Given the description of an element on the screen output the (x, y) to click on. 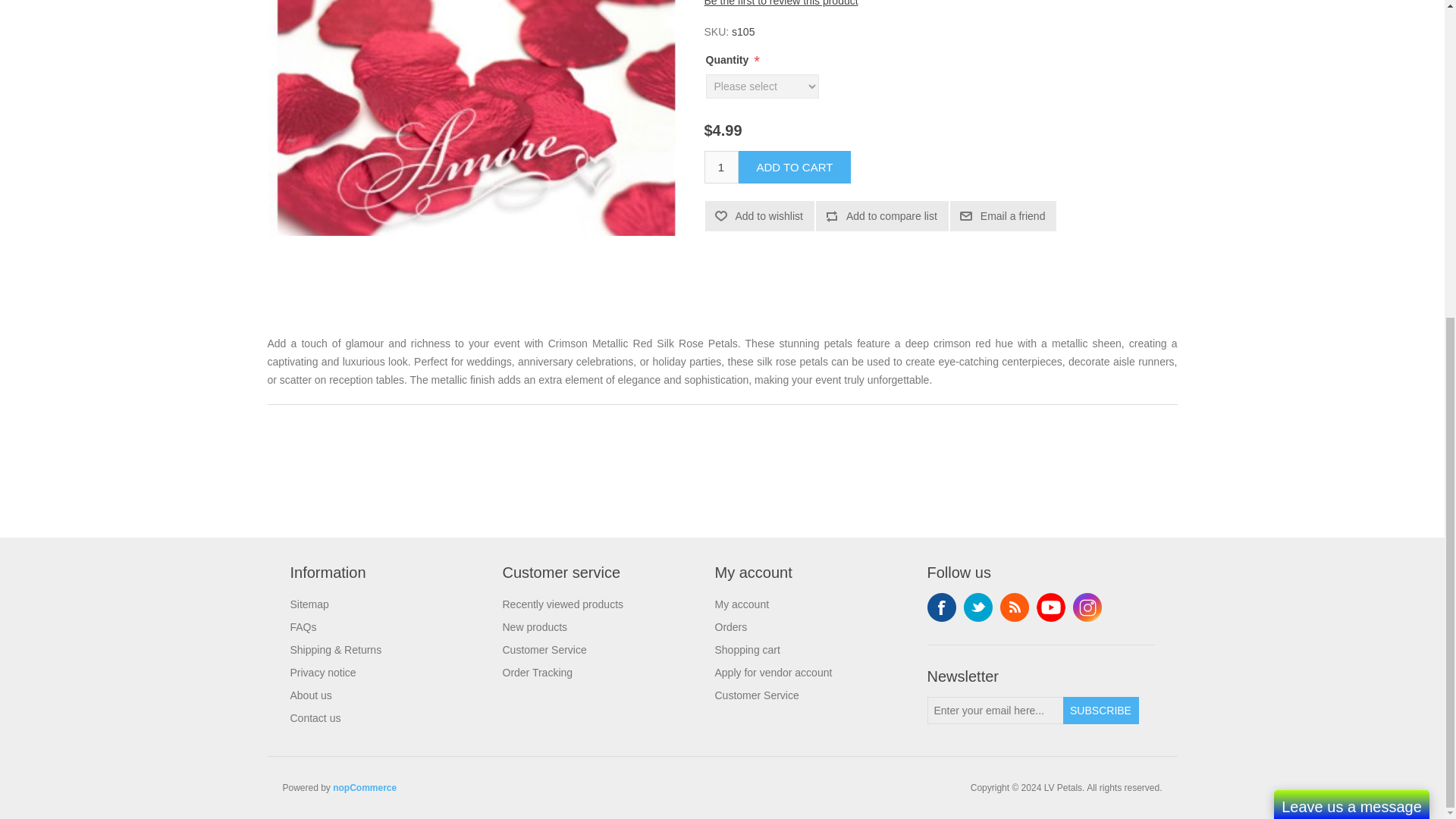
Customer Service (544, 649)
FAQs (302, 626)
Add to wishlist (758, 215)
Contact us (314, 717)
Privacy notice (322, 672)
Add to compare list (882, 215)
Order Tracking (537, 672)
About us (310, 695)
ADD TO CART (794, 166)
Sitemap (309, 604)
1 (720, 166)
Picture of Silk Rose Petals Crimson Red - Metallic Red (476, 117)
Be the first to review this product (780, 3)
Email a friend (1003, 215)
Recently viewed products (562, 604)
